Given the description of an element on the screen output the (x, y) to click on. 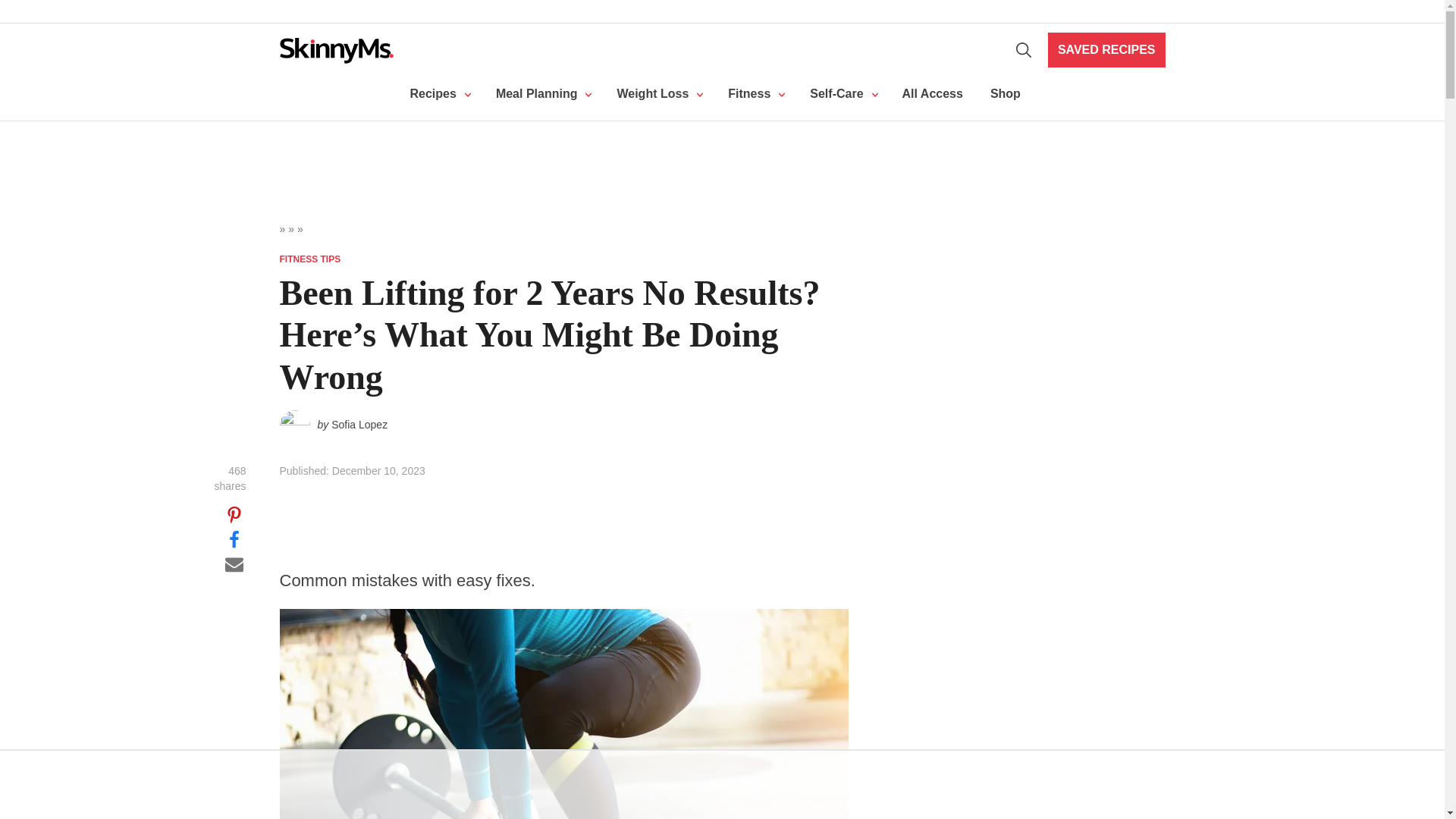
Skinny Ms. (336, 49)
Weight Loss Recipes And Menus (541, 94)
Share on Facebook (233, 539)
Share on Pinterest (233, 514)
SAVED RECIPES (1107, 49)
Share via Email (233, 563)
Search (1023, 49)
Recipes (438, 94)
